Given the description of an element on the screen output the (x, y) to click on. 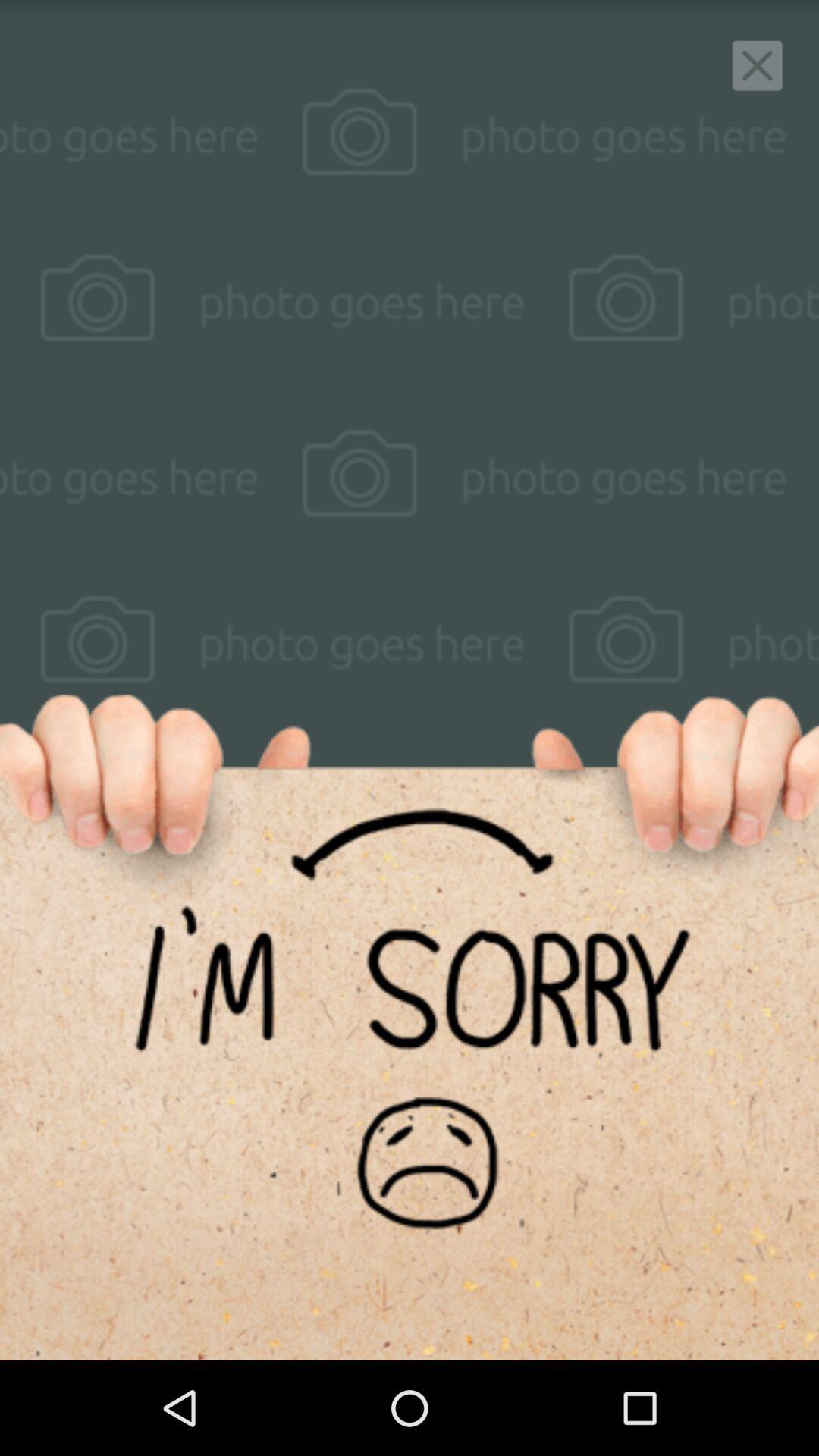
exit screen (757, 65)
